Given the description of an element on the screen output the (x, y) to click on. 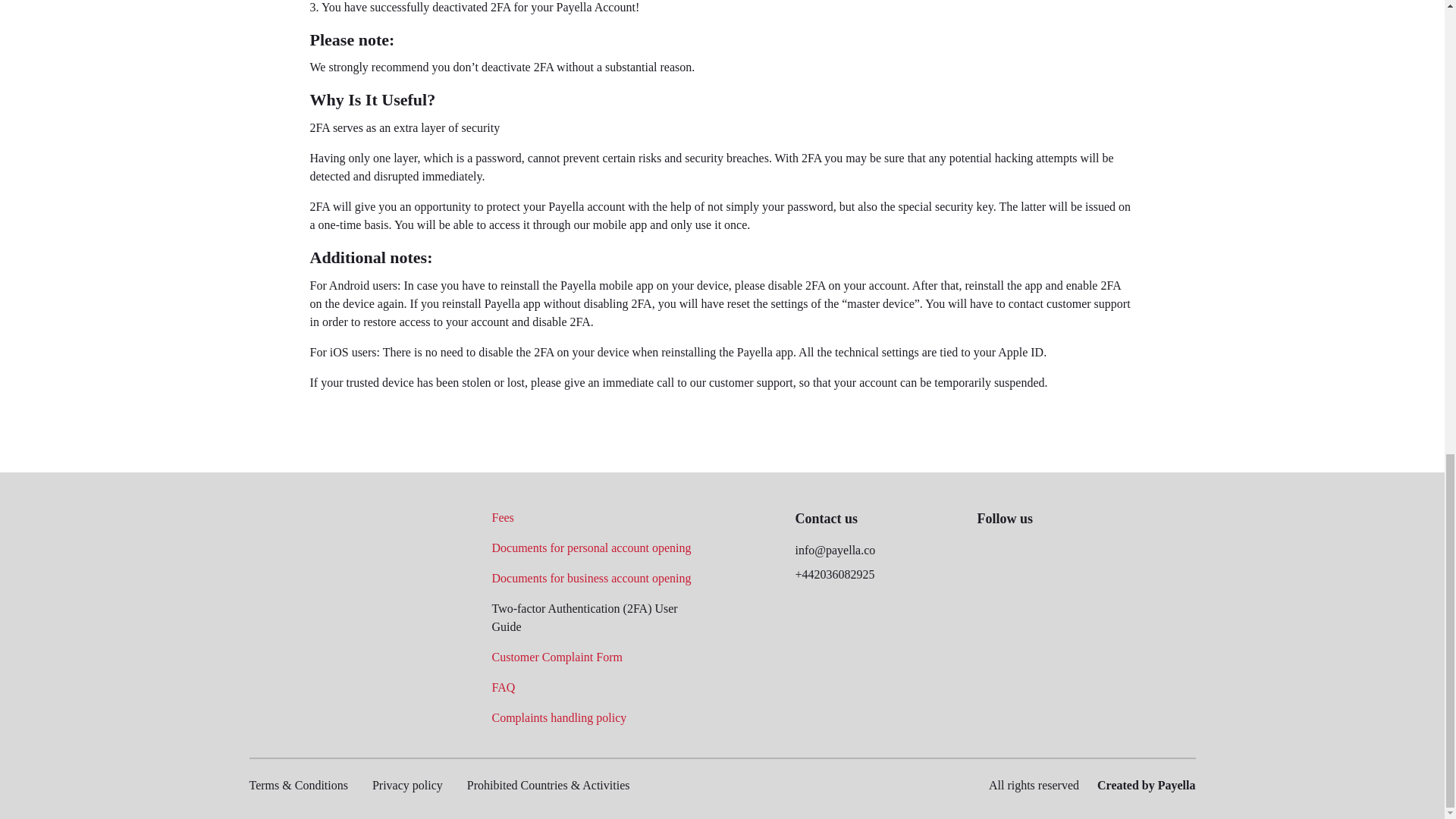
Customer Complaint Form (556, 656)
Privacy policy (407, 784)
FAQ (503, 686)
Documents for business account opening (591, 577)
Complaints handling policy (559, 717)
Documents for personal account opening (591, 547)
Fees (502, 517)
